Given the description of an element on the screen output the (x, y) to click on. 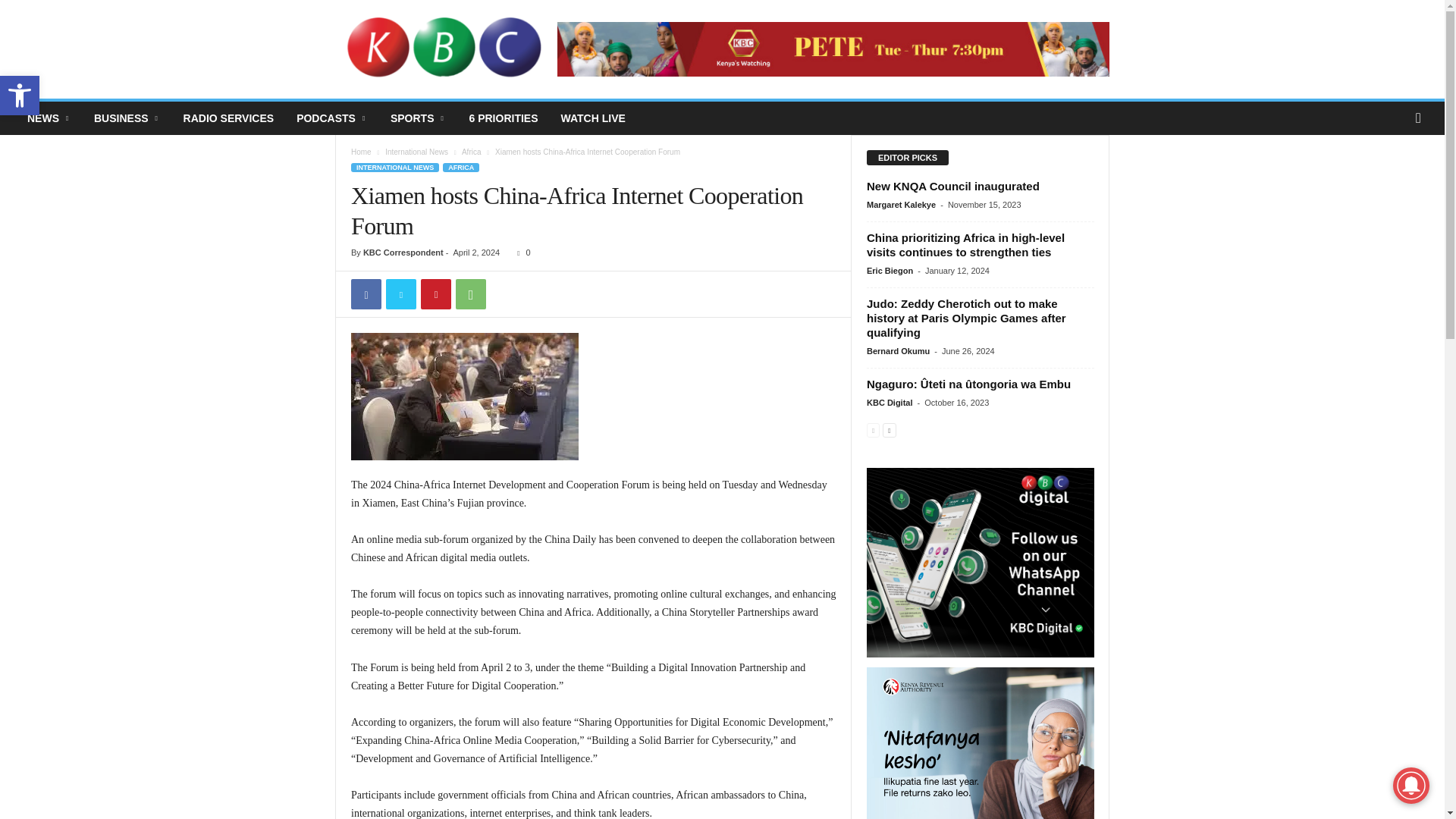
Accessibility Tools (19, 95)
